Given the description of an element on the screen output the (x, y) to click on. 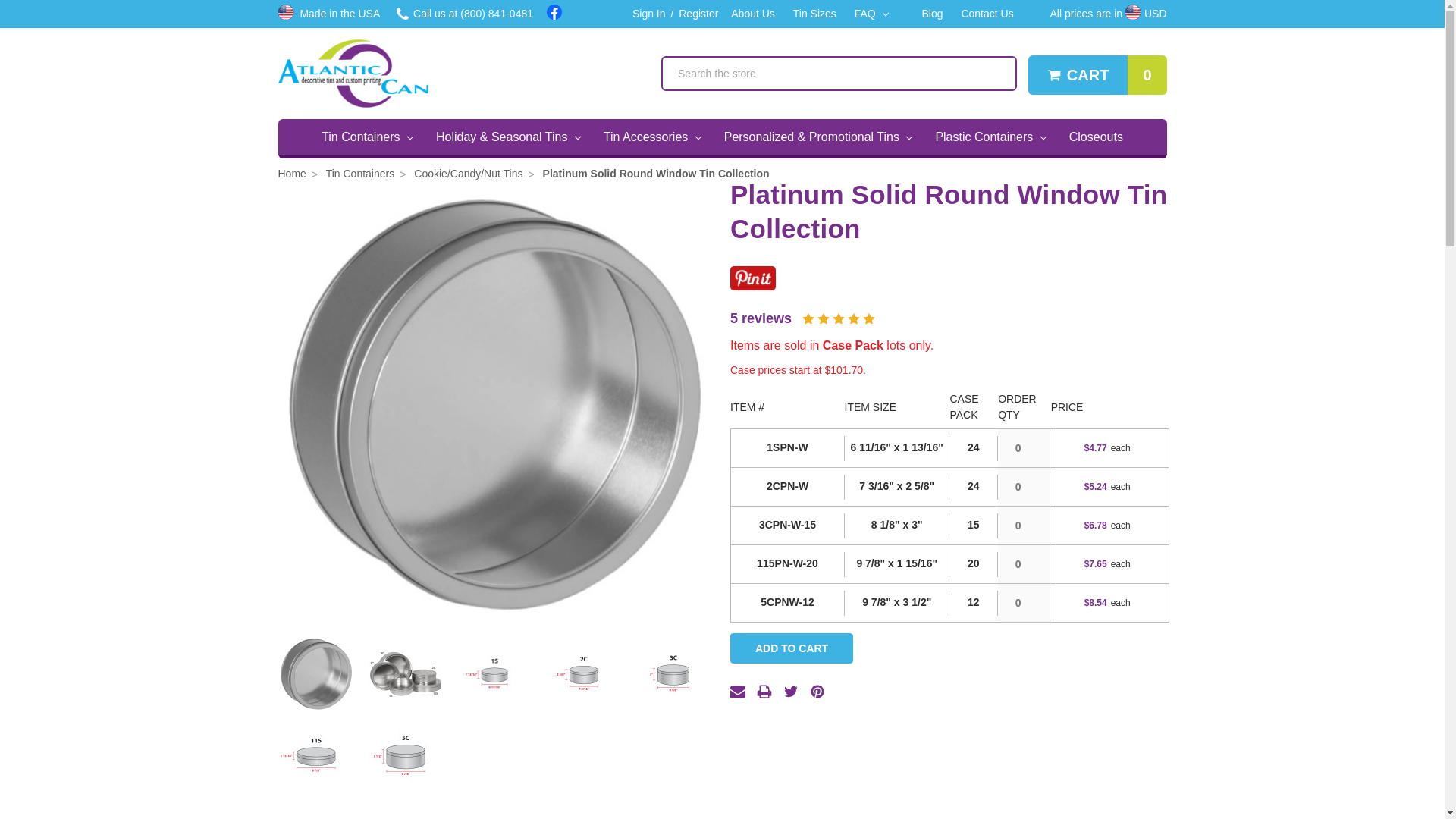
Tin Accessories (652, 136)
FAQ (872, 13)
Size Diagram 115 (315, 755)
Register (1097, 75)
Sign In (696, 13)
Size Diagram 1S (643, 13)
About Us (494, 673)
Add to Cart (745, 13)
Atlantic Can (791, 648)
Size Diagram 3C (353, 73)
Tin Containers (672, 673)
Tin Sizes (367, 136)
Size Diagram 5C (806, 13)
